Given the description of an element on the screen output the (x, y) to click on. 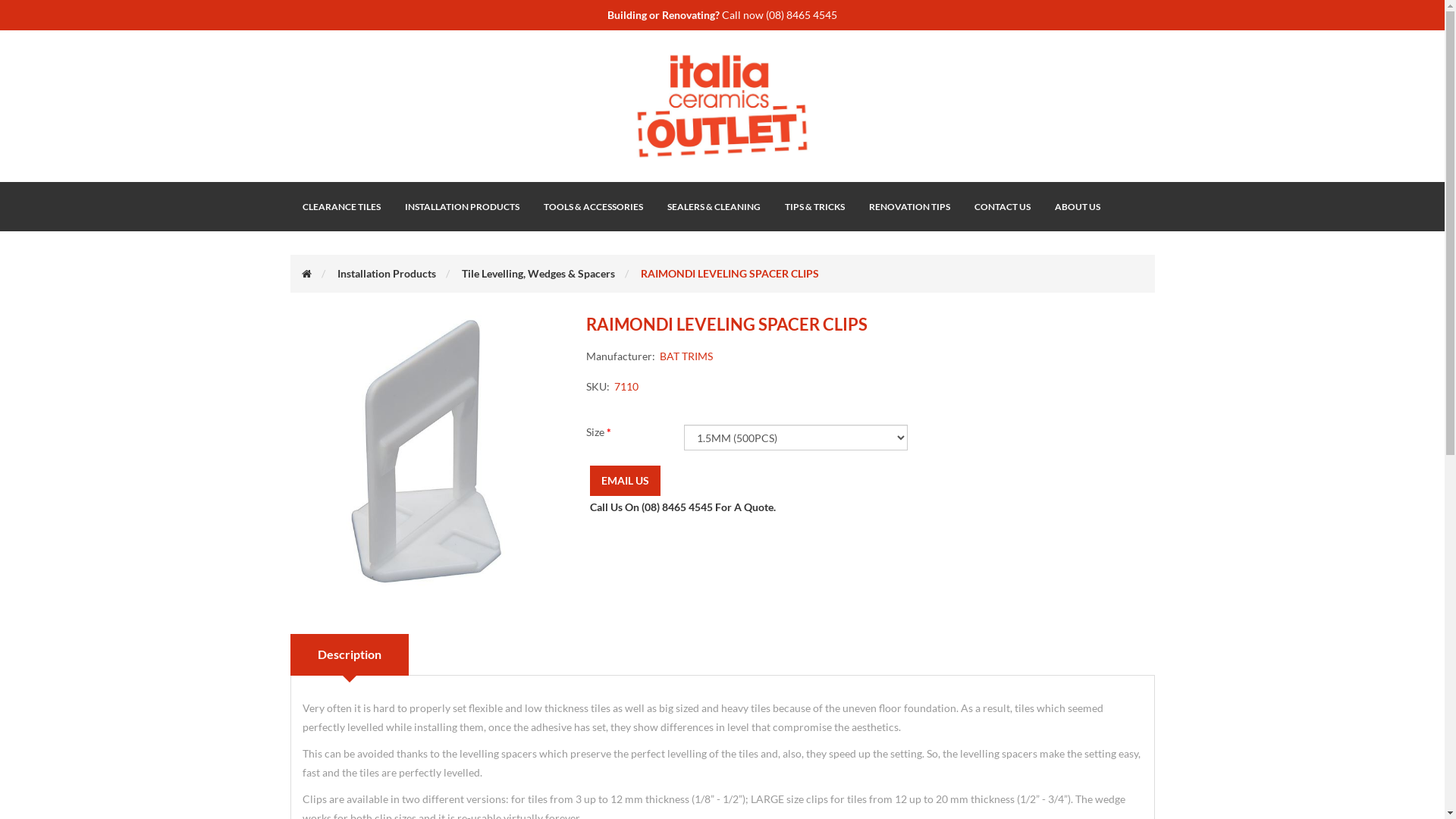
(08) 8465 4545 Element type: text (801, 14)
SEALERS & CLEANING Element type: text (713, 206)
Description Element type: text (348, 654)
TOOLS & ACCESSORIES Element type: text (592, 206)
CLEARANCE TILES Element type: text (340, 206)
Tile Levelling, Wedges & Spacers Element type: text (537, 272)
BAT TRIMS Element type: text (685, 355)
EMAIL US Element type: text (624, 480)
TIPS & TRICKS Element type: text (813, 206)
Installation Products Element type: text (385, 272)
INSTALLATION PRODUCTS Element type: text (461, 206)
ABOUT US Element type: text (1076, 206)
RENOVATION TIPS Element type: text (909, 206)
CONTACT US Element type: text (1001, 206)
Picture of RAIMONDI LEVELING SPACER CLIPS Element type: hover (425, 451)
